Given the description of an element on the screen output the (x, y) to click on. 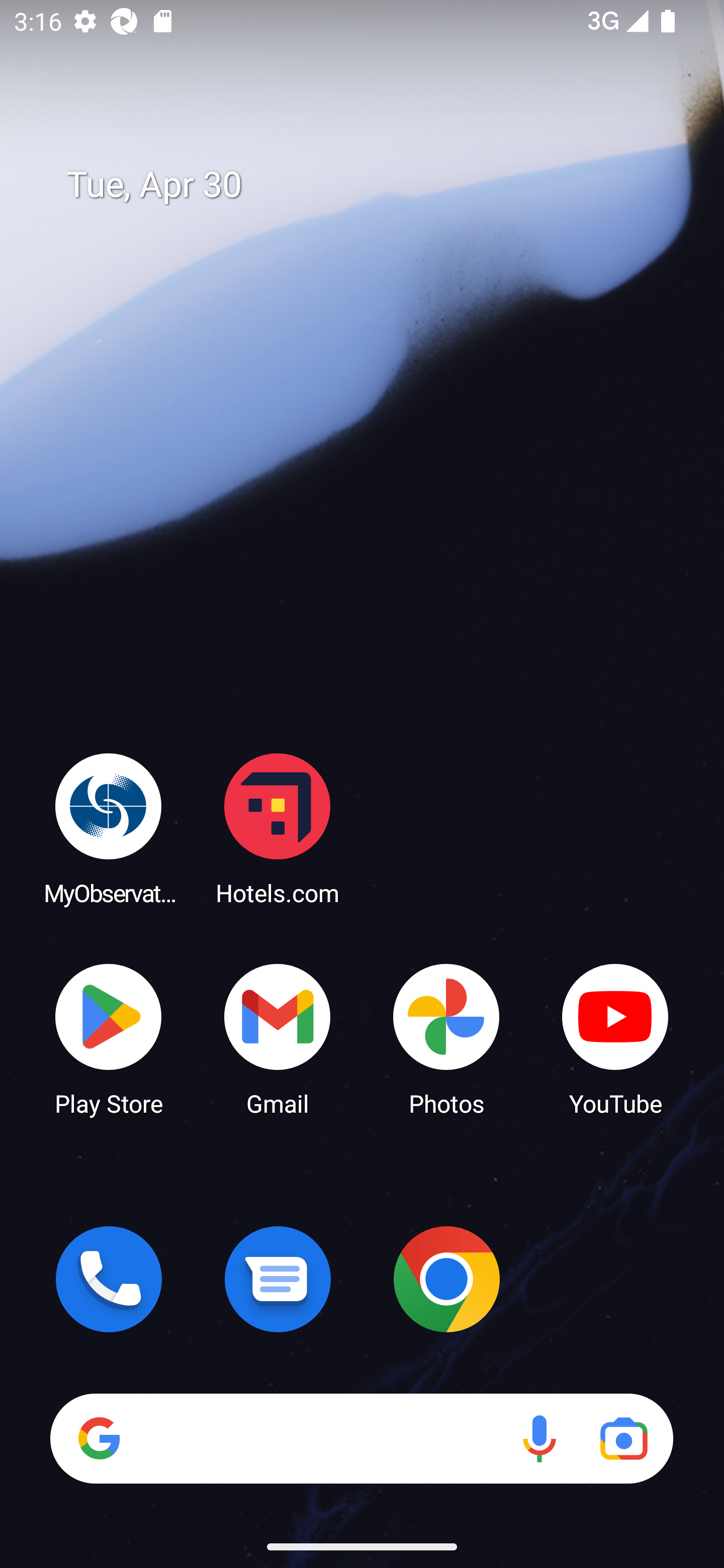
Tue, Apr 30 (375, 184)
MyObservatory (108, 828)
Hotels.com (277, 828)
Play Store (108, 1038)
Gmail (277, 1038)
Photos (445, 1038)
YouTube (615, 1038)
Phone (108, 1279)
Messages (277, 1279)
Chrome (446, 1279)
Search Voice search Google Lens (361, 1438)
Voice search (539, 1438)
Google Lens (623, 1438)
